Given the description of an element on the screen output the (x, y) to click on. 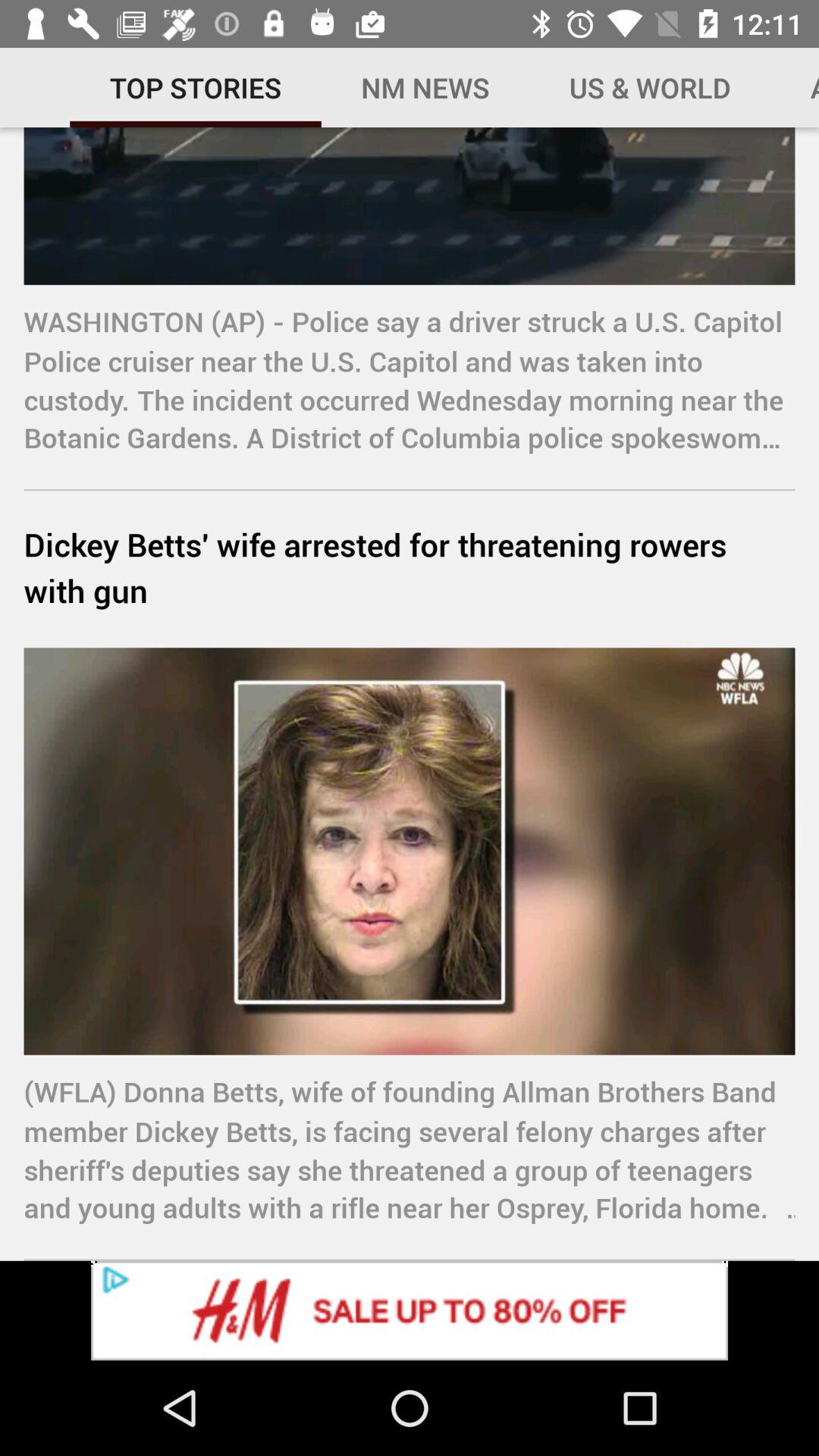
advertisement (409, 1310)
